Given the description of an element on the screen output the (x, y) to click on. 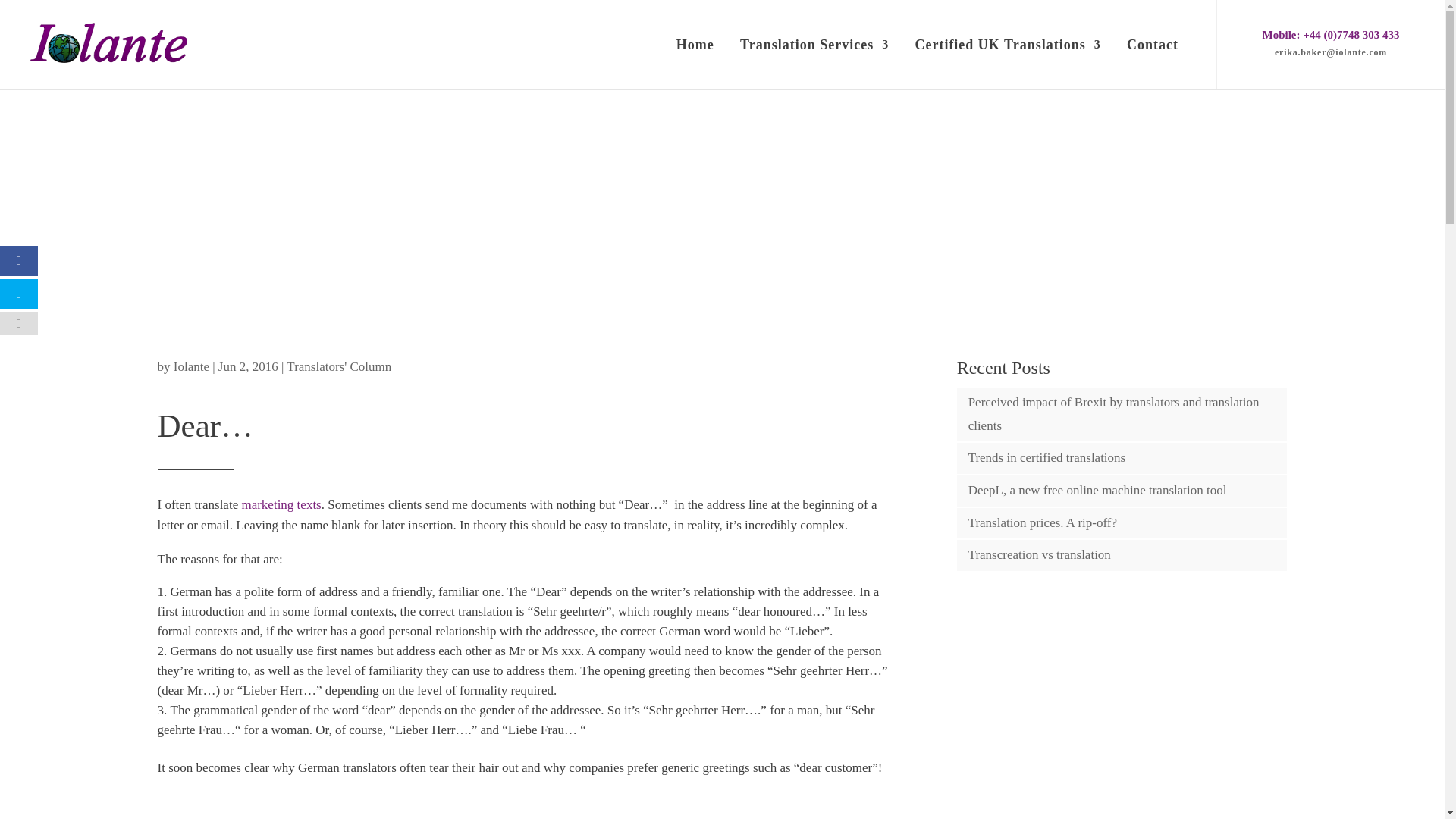
Posts by Iolante (191, 366)
Iolante (191, 366)
Translation Services (813, 63)
Translators' Column (338, 366)
Contact (1151, 63)
Certified UK Translations (1007, 63)
